Given the description of an element on the screen output the (x, y) to click on. 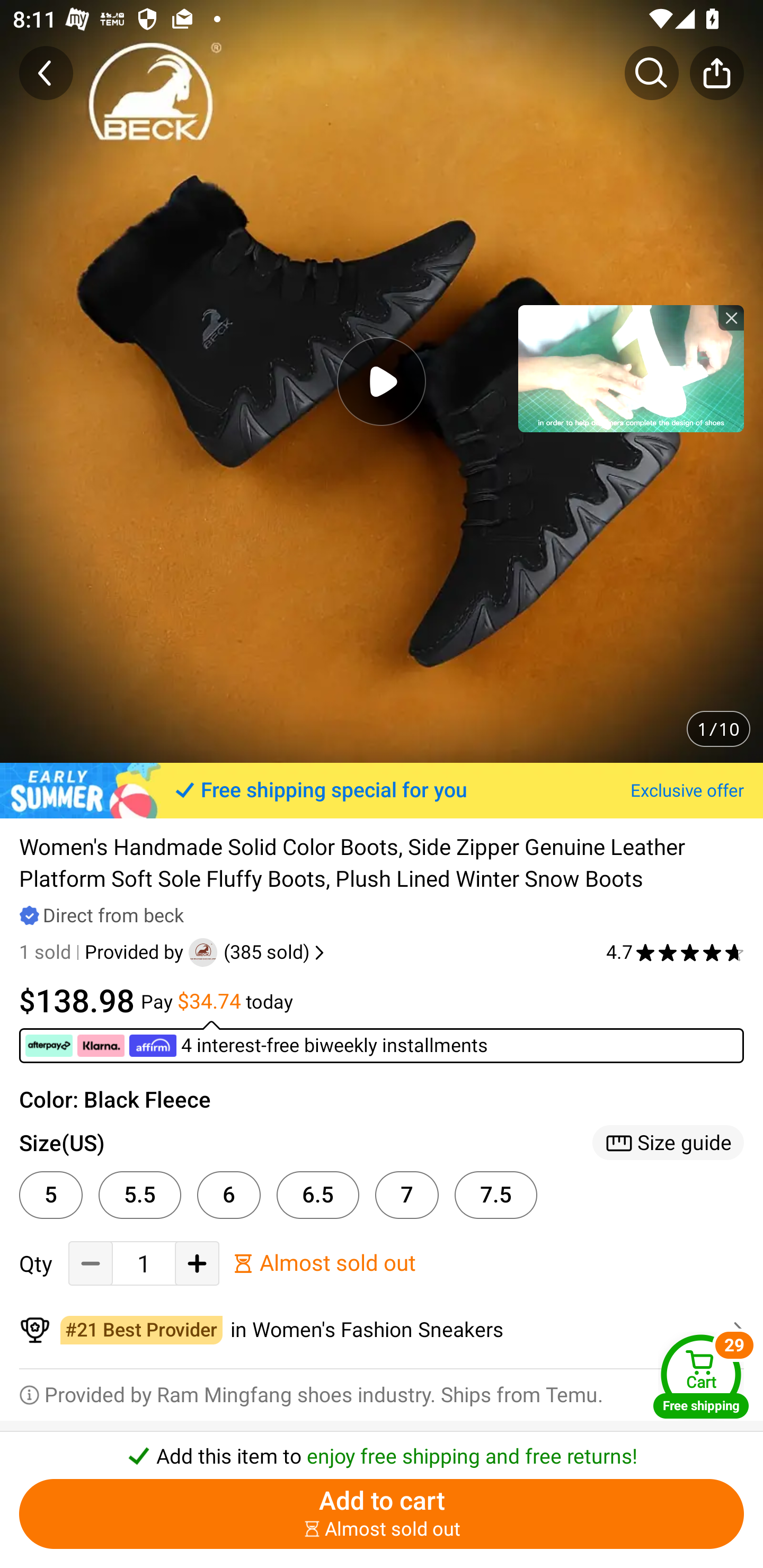
Back (46, 72)
Share (716, 72)
tronplayer_view (631, 368)
Free shipping special for you Exclusive offer (381, 790)
1 sold Provided by  (103, 952)
4.7 (674, 952)
￼ ￼ ￼ 4 interest-free biweekly installments (381, 1041)
 Size guide (667, 1142)
5 (50, 1194)
5.5 (139, 1194)
6 (228, 1194)
6.5 (317, 1194)
7 (406, 1194)
7.5 (495, 1194)
Decrease Quantity Button (90, 1263)
Add Quantity button (196, 1263)
1 (143, 1263)
￼￼in Women's Fashion Sneakers (381, 1330)
Cart Free shipping Cart (701, 1375)
Add to cart ￼￼Almost sold out (381, 1513)
